Given the description of an element on the screen output the (x, y) to click on. 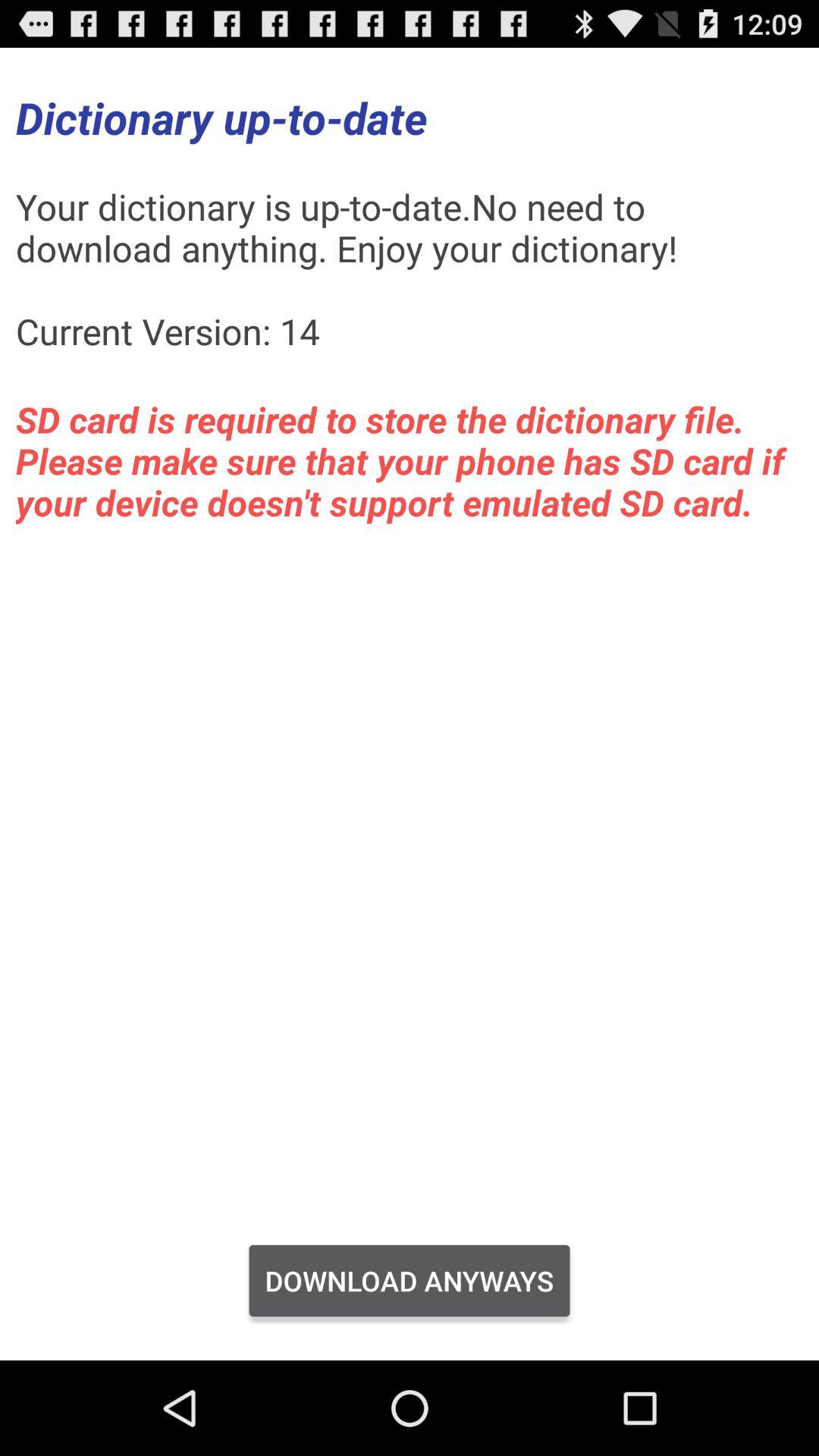
jump until the download anyways item (409, 1280)
